Given the description of an element on the screen output the (x, y) to click on. 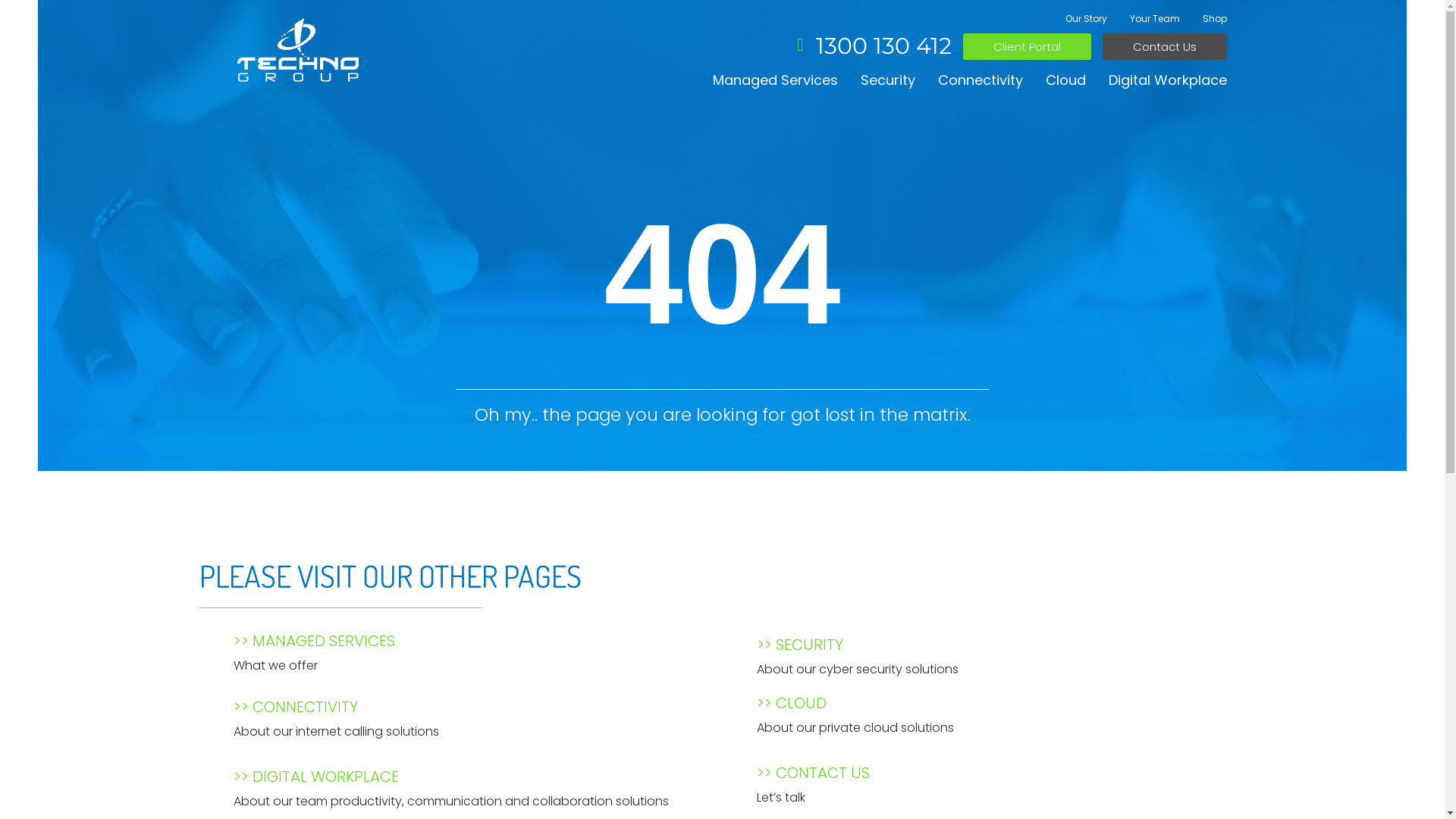
>> DIGITAL WORKPLACE Element type: text (315, 776)
Our Story Element type: text (1085, 18)
>> SECURITY Element type: text (799, 644)
Contact Us Element type: text (1164, 46)
Security Element type: text (886, 80)
>> CONTACT US Element type: text (812, 772)
Digital Workplace Element type: text (1167, 80)
>> CONNECTIVITY Element type: text (295, 706)
Managed Services Element type: text (774, 80)
>> MANAGED SERVICES Element type: text (314, 640)
Shop Element type: text (1214, 18)
Cloud Element type: text (1064, 80)
Client Portal Element type: text (1027, 46)
>> CLOUD Element type: text (791, 702)
Connectivity Element type: text (979, 80)
Your Team Element type: text (1154, 18)
